Given the description of an element on the screen output the (x, y) to click on. 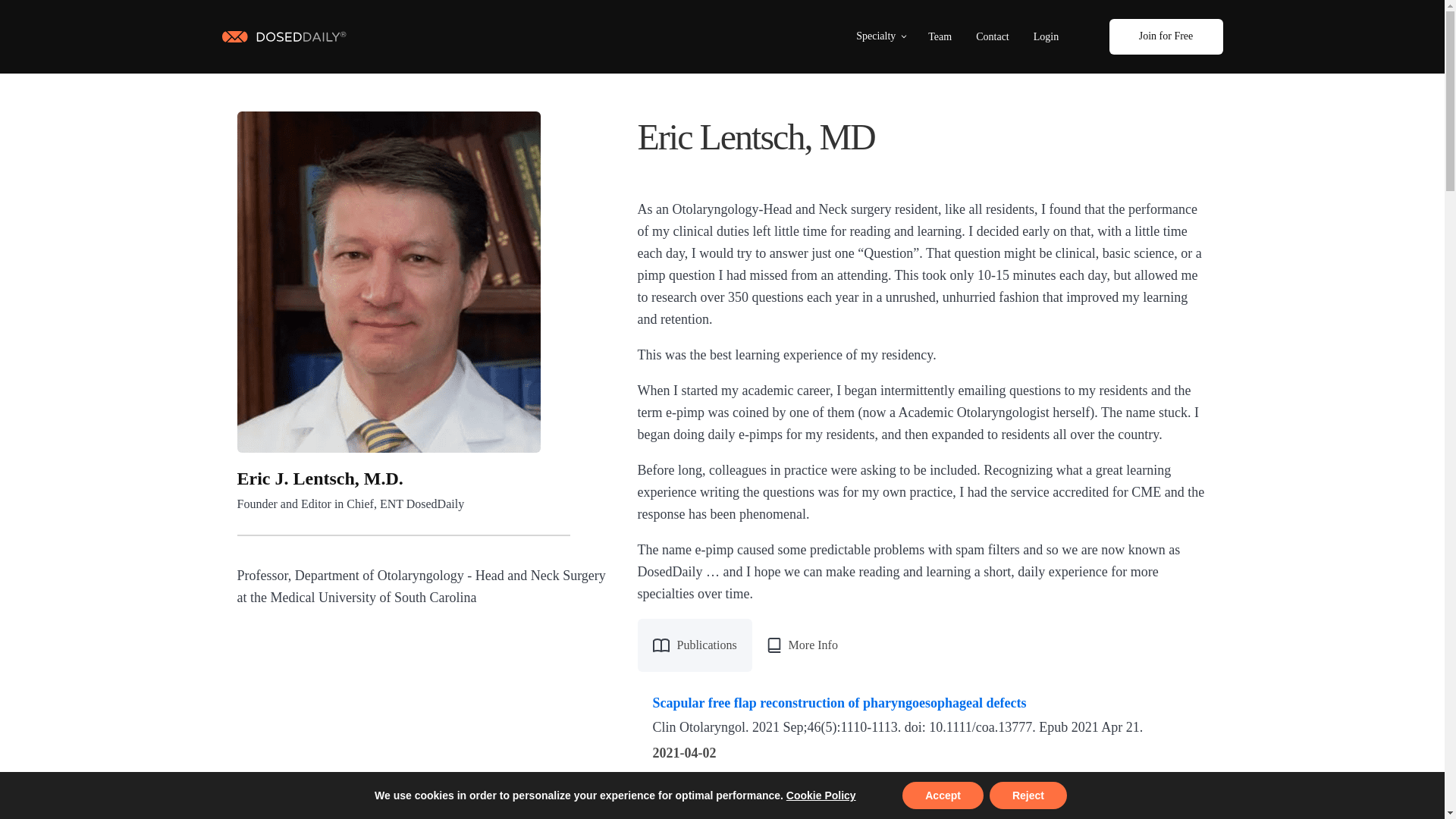
Join for Free (1165, 36)
Team (939, 36)
Contact (991, 36)
Specialty (881, 36)
Login (1045, 36)
